Given the description of an element on the screen output the (x, y) to click on. 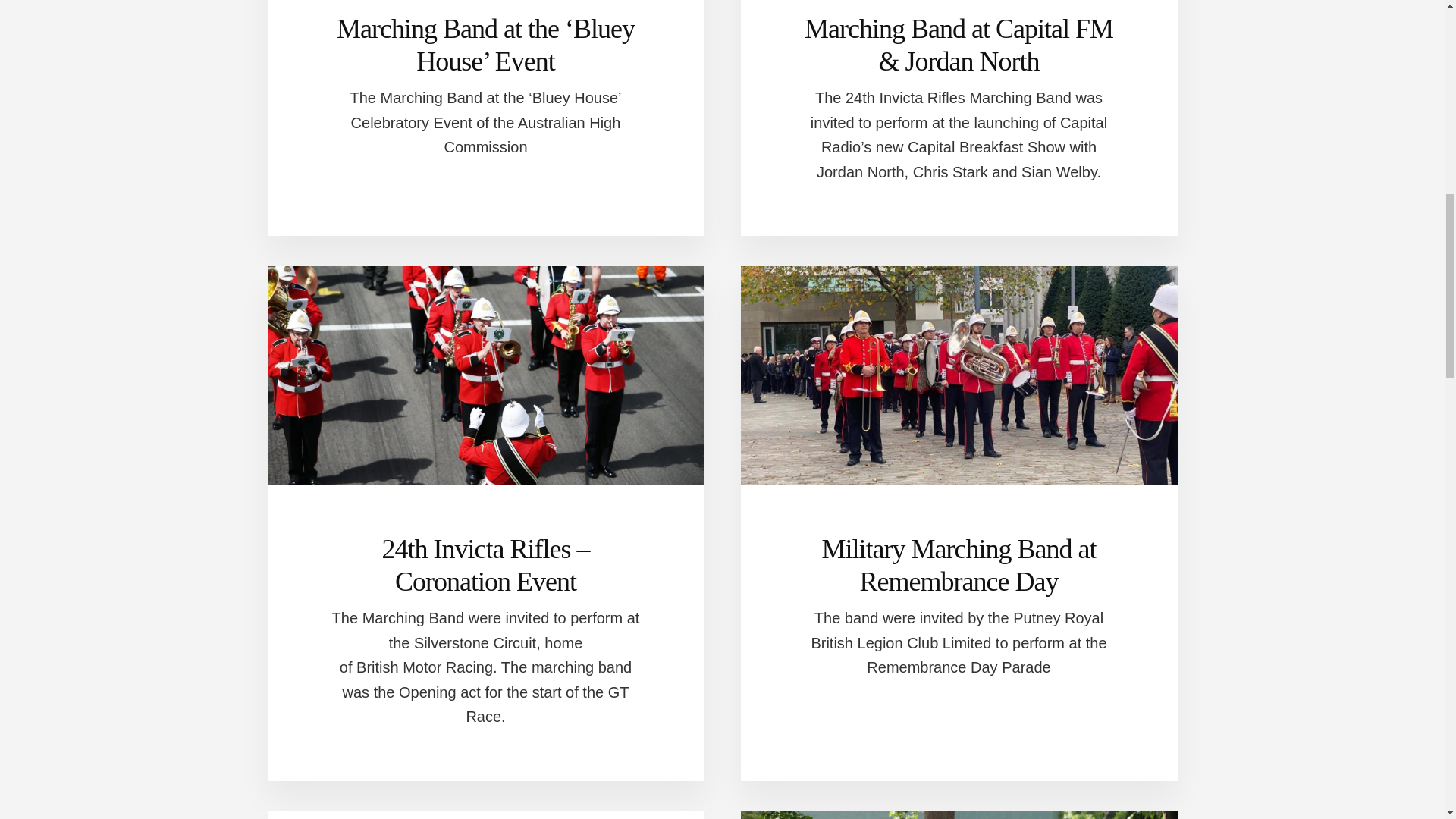
Military Marching Band at Remembrance Day (959, 565)
